Given the description of an element on the screen output the (x, y) to click on. 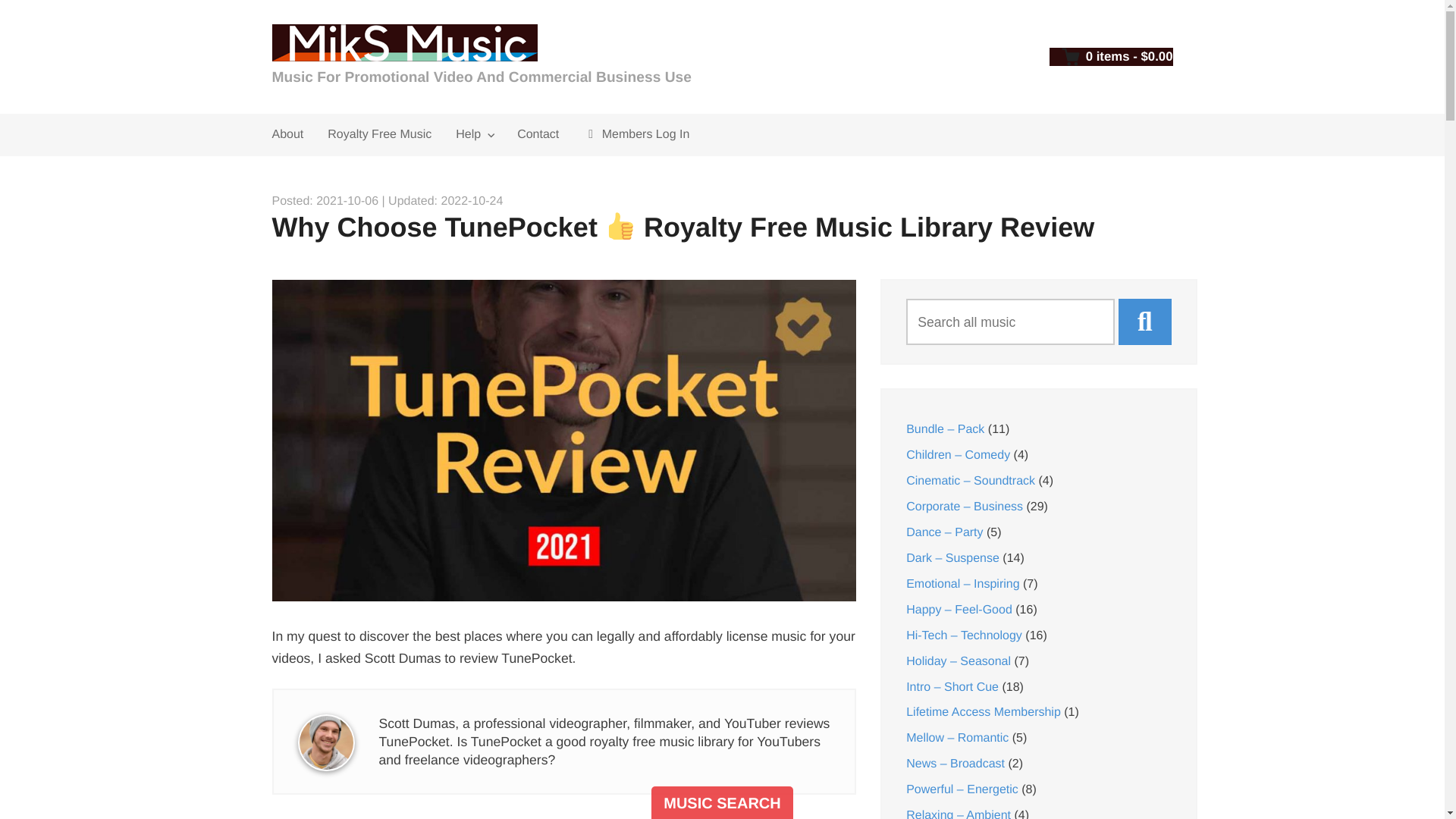
Members Log In (635, 134)
About (287, 134)
Contact (537, 134)
Royalty Free Music (379, 134)
Help (474, 134)
